Given the description of an element on the screen output the (x, y) to click on. 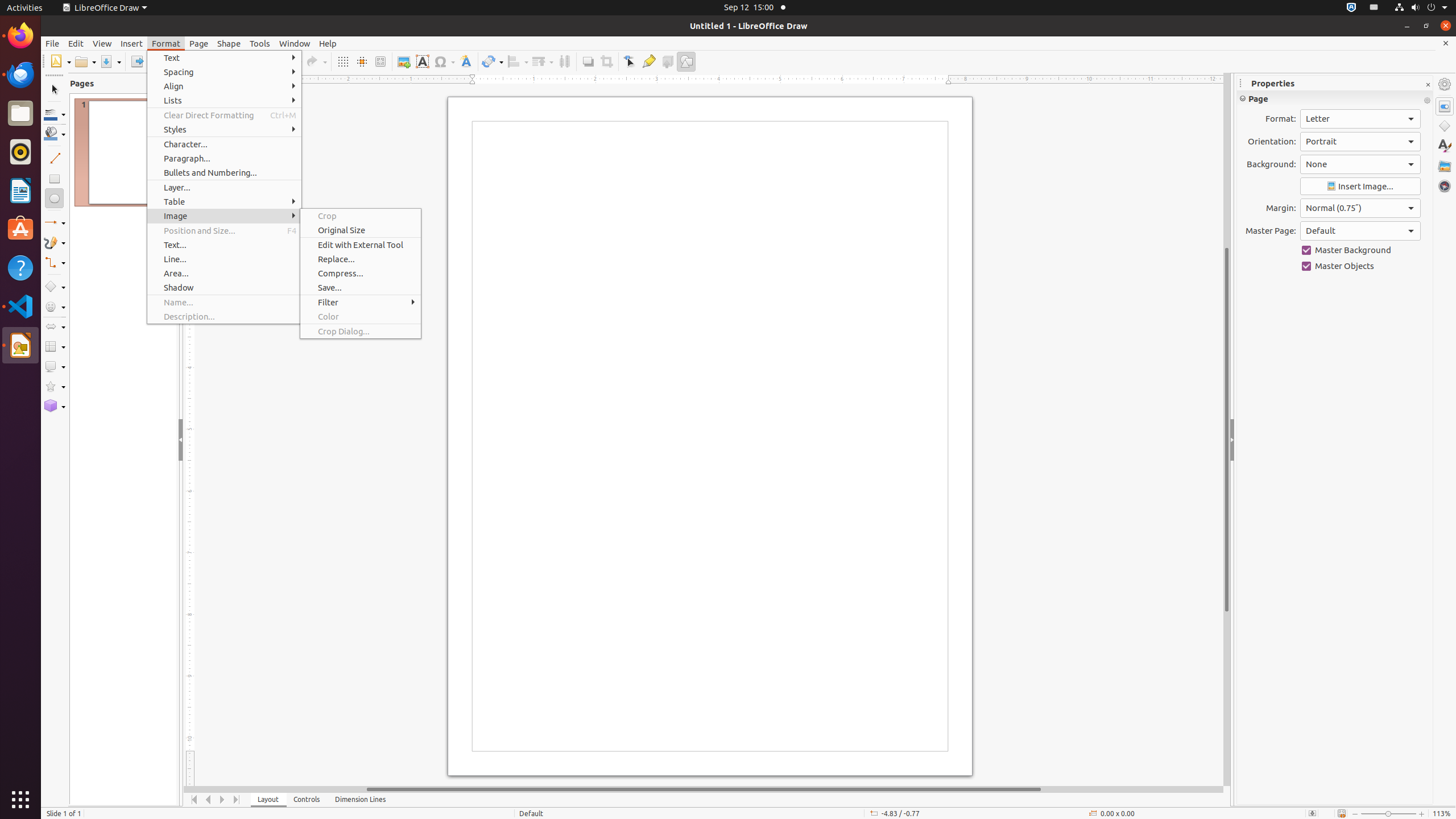
Open Element type: push-button (84, 61)
Navigator Element type: radio-button (1444, 185)
Format Element type: menu (165, 43)
:1.21/StatusNotifierItem Element type: menu (1373, 7)
View Element type: menu (102, 43)
